Given the description of an element on the screen output the (x, y) to click on. 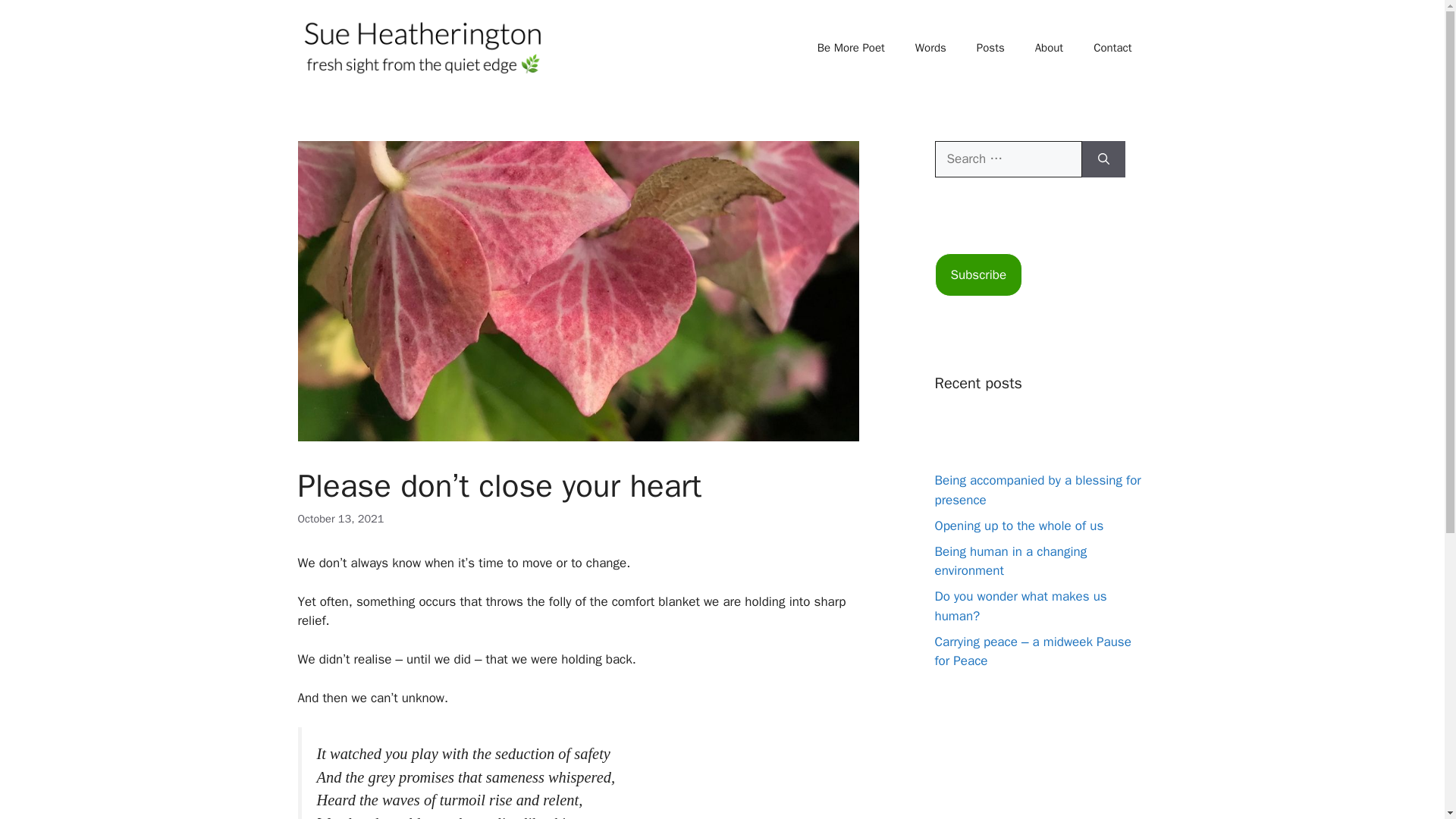
Posts (990, 47)
Subscribe (978, 275)
Being accompanied by a blessing for presence (1037, 489)
Words (929, 47)
Search for: (1007, 158)
Be More Poet (850, 47)
Contact (1112, 47)
Opening up to the whole of us (1018, 525)
Do you wonder what makes us human? (1020, 606)
About (1049, 47)
